Given the description of an element on the screen output the (x, y) to click on. 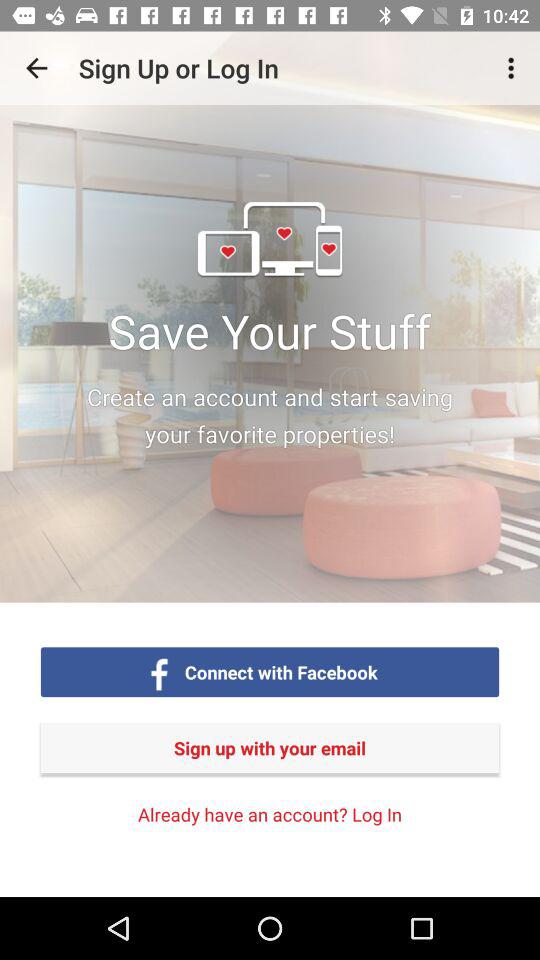
select the text below blue box (269, 747)
